Given the description of an element on the screen output the (x, y) to click on. 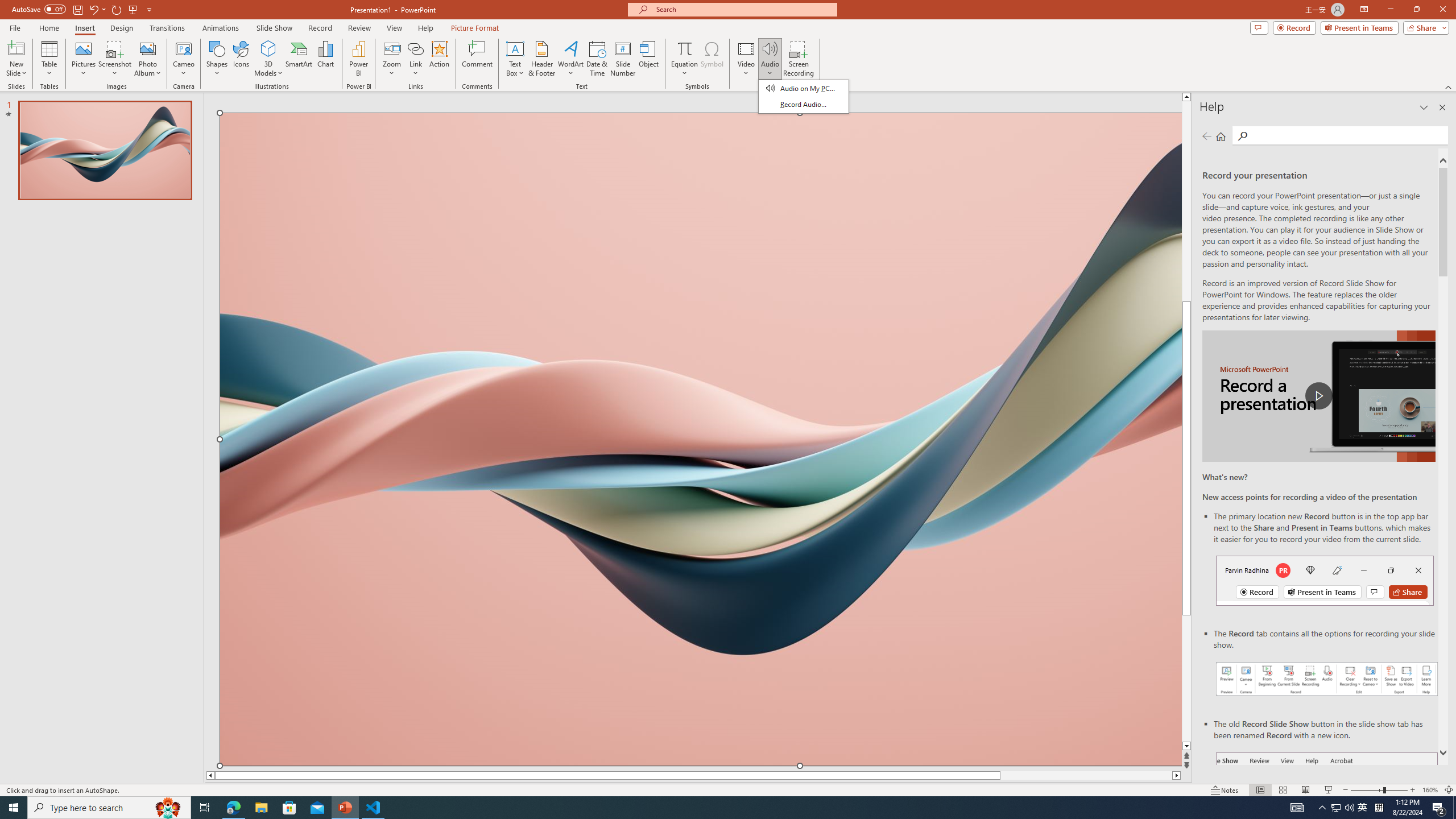
Audi&o (803, 96)
Screenshot (114, 58)
Record button in top bar (1324, 580)
Chart... (325, 58)
Object... (649, 58)
Video (745, 58)
